Given the description of an element on the screen output the (x, y) to click on. 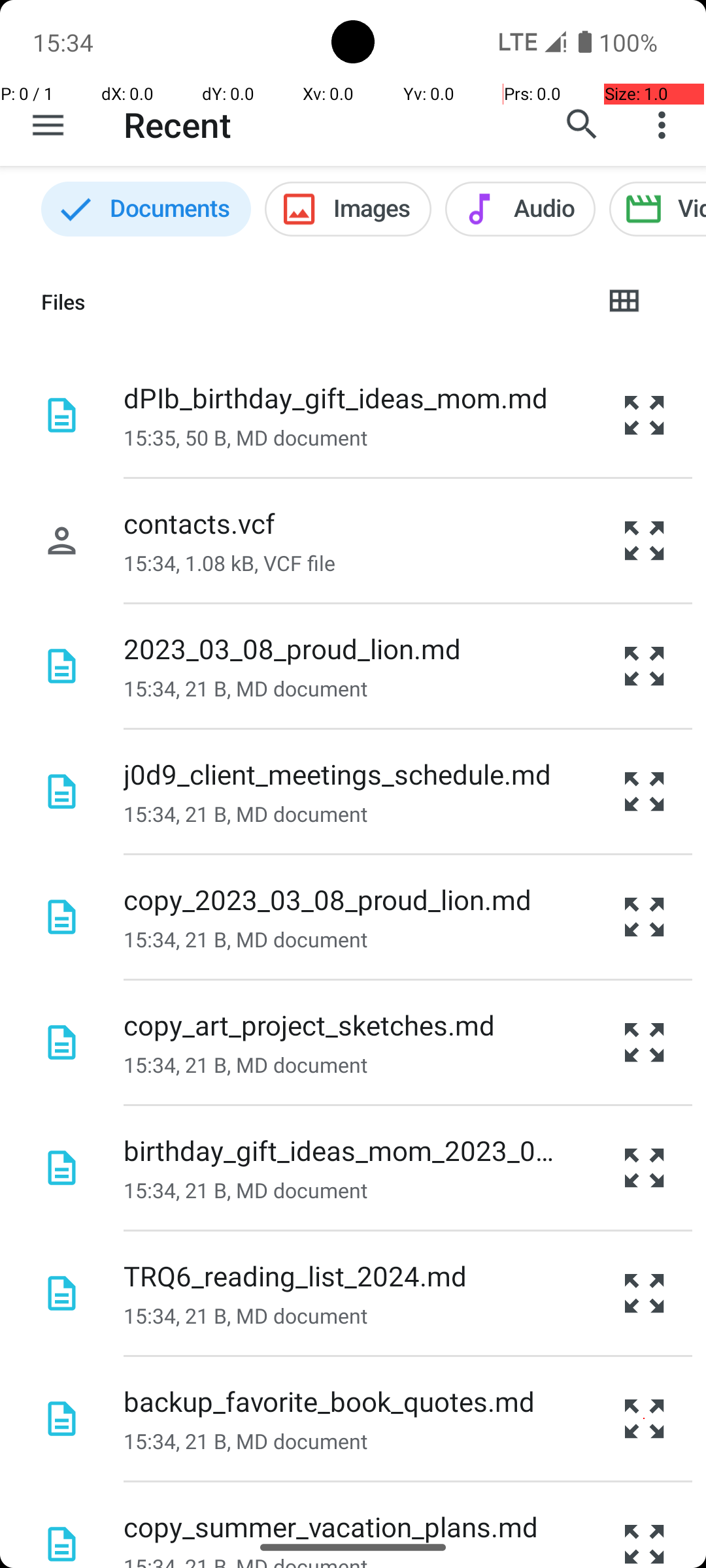
dPIb_birthday_gift_ideas_mom.md Element type: android.widget.TextView (335, 397)
15:35, 50 B, MD document Element type: android.widget.TextView (245, 437)
Preview the file dPIb_birthday_gift_ideas_mom.md Element type: android.widget.FrameLayout (644, 414)
contacts.vcf Element type: android.widget.TextView (199, 522)
15:34, 1.08 kB, VCF file Element type: android.widget.TextView (229, 562)
Preview the file contacts.vcf Element type: android.widget.FrameLayout (644, 540)
2023_03_08_proud_lion.md Element type: android.widget.TextView (291, 648)
15:34, 21 B, MD document Element type: android.widget.TextView (245, 688)
Preview the file 2023_03_08_proud_lion.md Element type: android.widget.FrameLayout (644, 665)
j0d9_client_meetings_schedule.md Element type: android.widget.TextView (337, 773)
Preview the file j0d9_client_meetings_schedule.md Element type: android.widget.FrameLayout (644, 791)
copy_2023_03_08_proud_lion.md Element type: android.widget.TextView (327, 898)
Preview the file copy_2023_03_08_proud_lion.md Element type: android.widget.FrameLayout (644, 916)
copy_art_project_sketches.md Element type: android.widget.TextView (308, 1024)
Preview the file copy_art_project_sketches.md Element type: android.widget.FrameLayout (644, 1042)
birthday_gift_ideas_mom_2023_07_04.md Element type: android.widget.TextView (338, 1149)
Preview the file birthday_gift_ideas_mom_2023_07_04.md Element type: android.widget.FrameLayout (644, 1167)
TRQ6_reading_list_2024.md Element type: android.widget.TextView (294, 1275)
Preview the file TRQ6_reading_list_2024.md Element type: android.widget.FrameLayout (644, 1293)
backup_favorite_book_quotes.md Element type: android.widget.TextView (329, 1400)
Preview the file backup_favorite_book_quotes.md Element type: android.widget.FrameLayout (644, 1418)
copy_summer_vacation_plans.md Element type: android.widget.TextView (330, 1526)
Preview the file copy_summer_vacation_plans.md Element type: android.widget.FrameLayout (644, 1525)
